Given the description of an element on the screen output the (x, y) to click on. 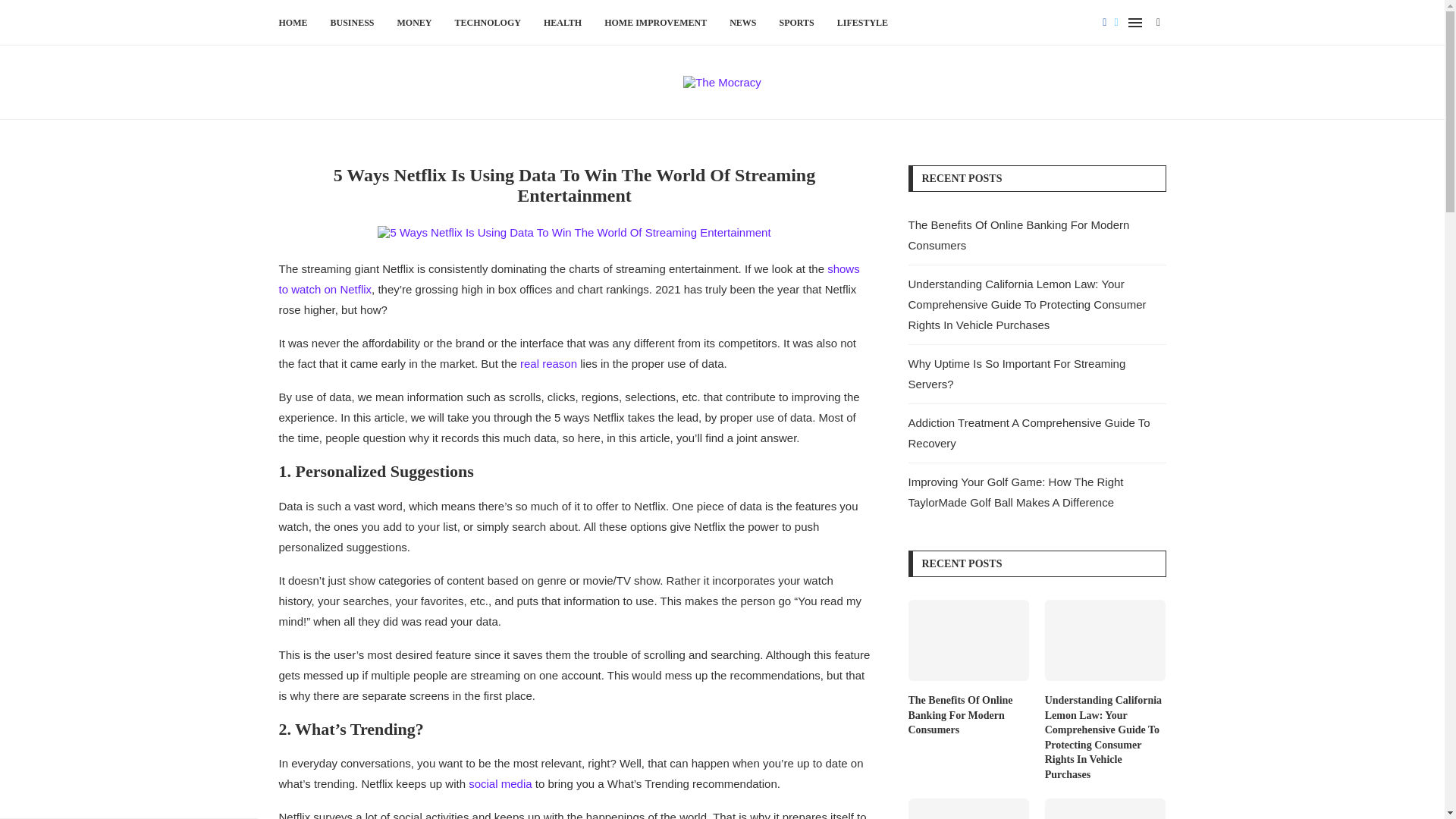
real reason (547, 363)
shows to watch on Netflix (569, 278)
LIFESTYLE (862, 22)
HOME IMPROVEMENT (655, 22)
social media (499, 783)
BUSINESS (352, 22)
TECHNOLOGY (487, 22)
